Given the description of an element on the screen output the (x, y) to click on. 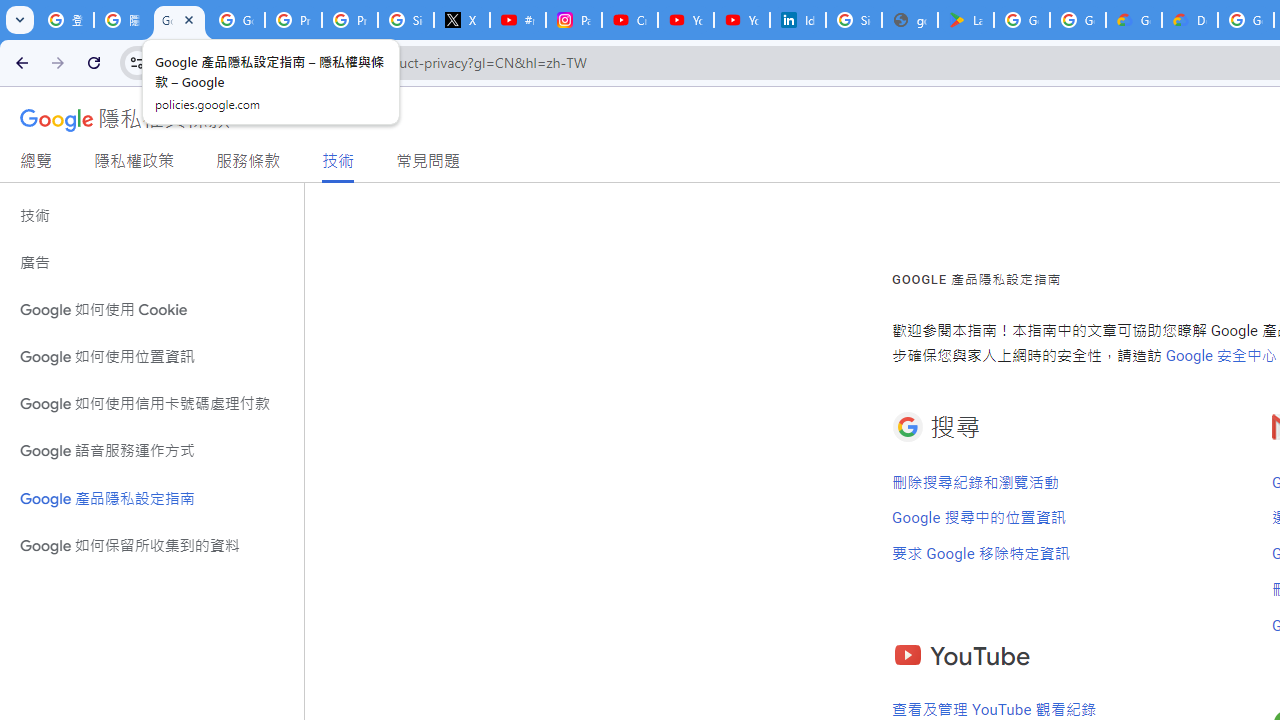
Sign in - Google Accounts (405, 20)
YouTube Culture & Trends - YouTube Top 10, 2021 (742, 20)
Government | Google Cloud (1133, 20)
